Given the description of an element on the screen output the (x, y) to click on. 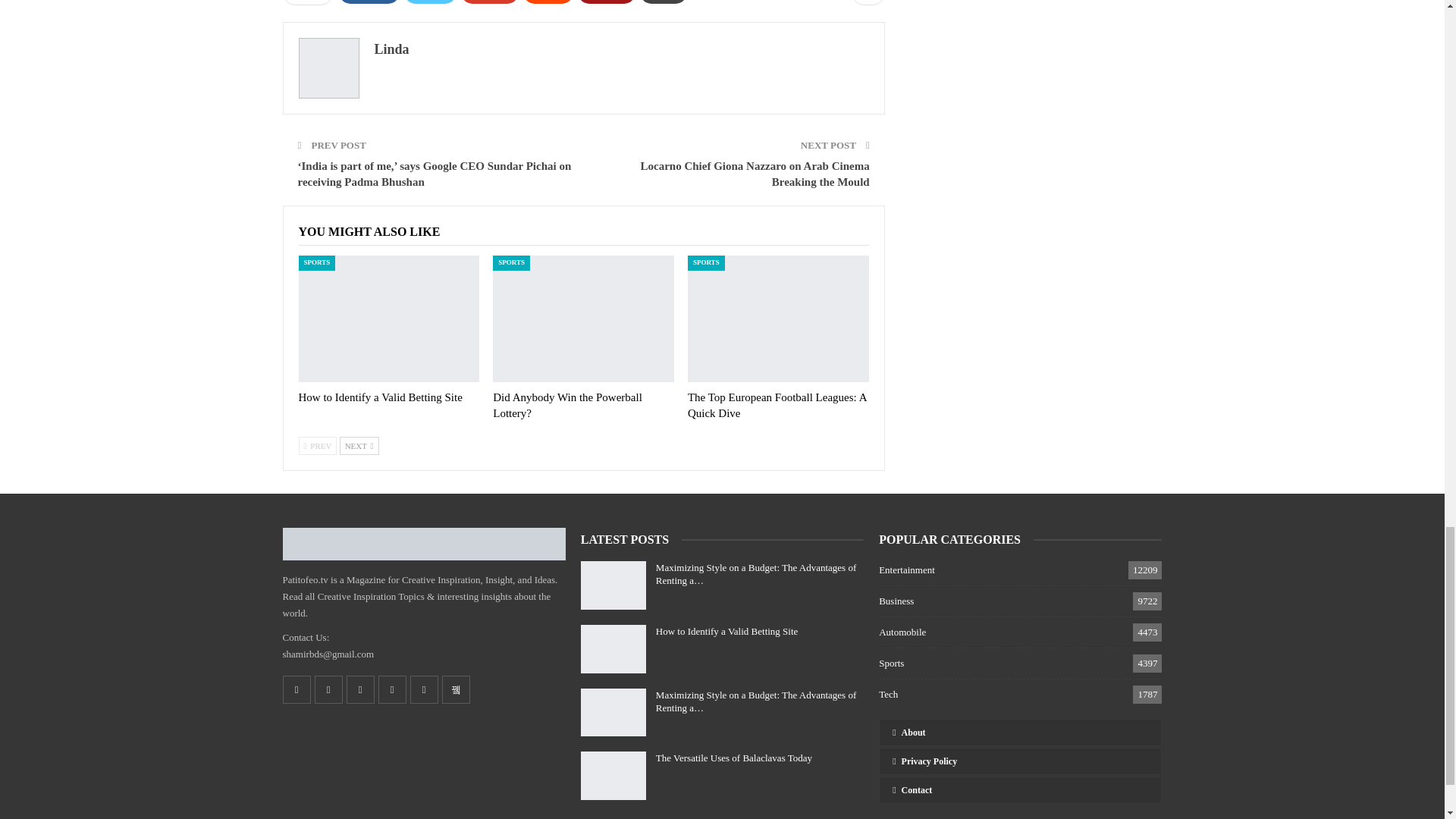
How to Identify a Valid Betting Site (389, 318)
Previous (317, 445)
Next (358, 445)
The Top European Football Leagues: A Quick Dive (776, 405)
How to Identify a Valid Betting Site (380, 397)
The Top European Football Leagues: A Quick Dive (778, 318)
Did Anybody Win the Powerball Lottery? (567, 405)
Did Anybody Win the Powerball Lottery? (583, 318)
